Given the description of an element on the screen output the (x, y) to click on. 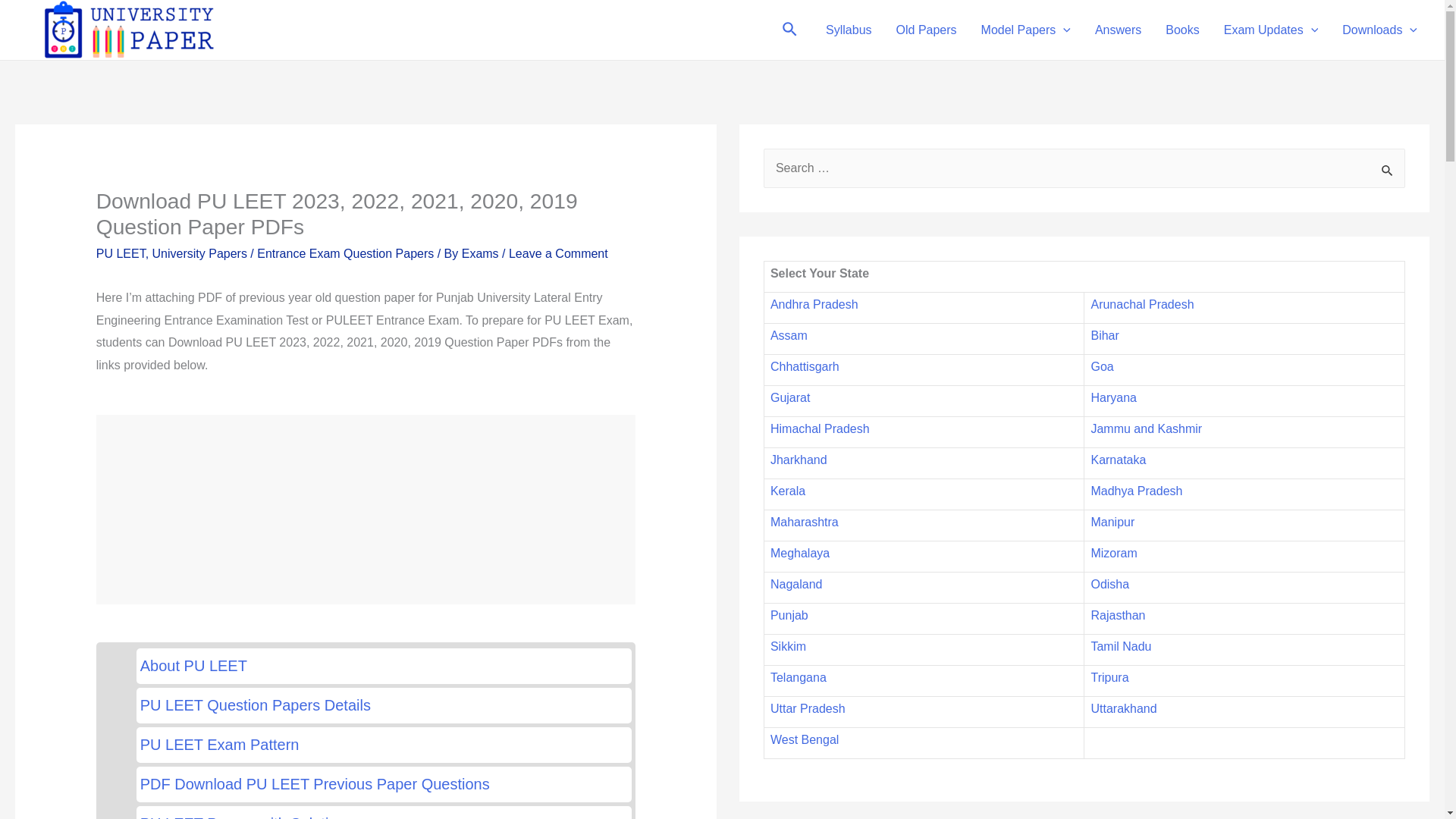
Answers (1118, 29)
Books (1182, 29)
Syllabus (848, 29)
View all posts by Exams (481, 253)
Downloads (1379, 29)
Exam Updates (1270, 29)
Old Papers (926, 29)
Model Papers (1026, 29)
